Given the description of an element on the screen output the (x, y) to click on. 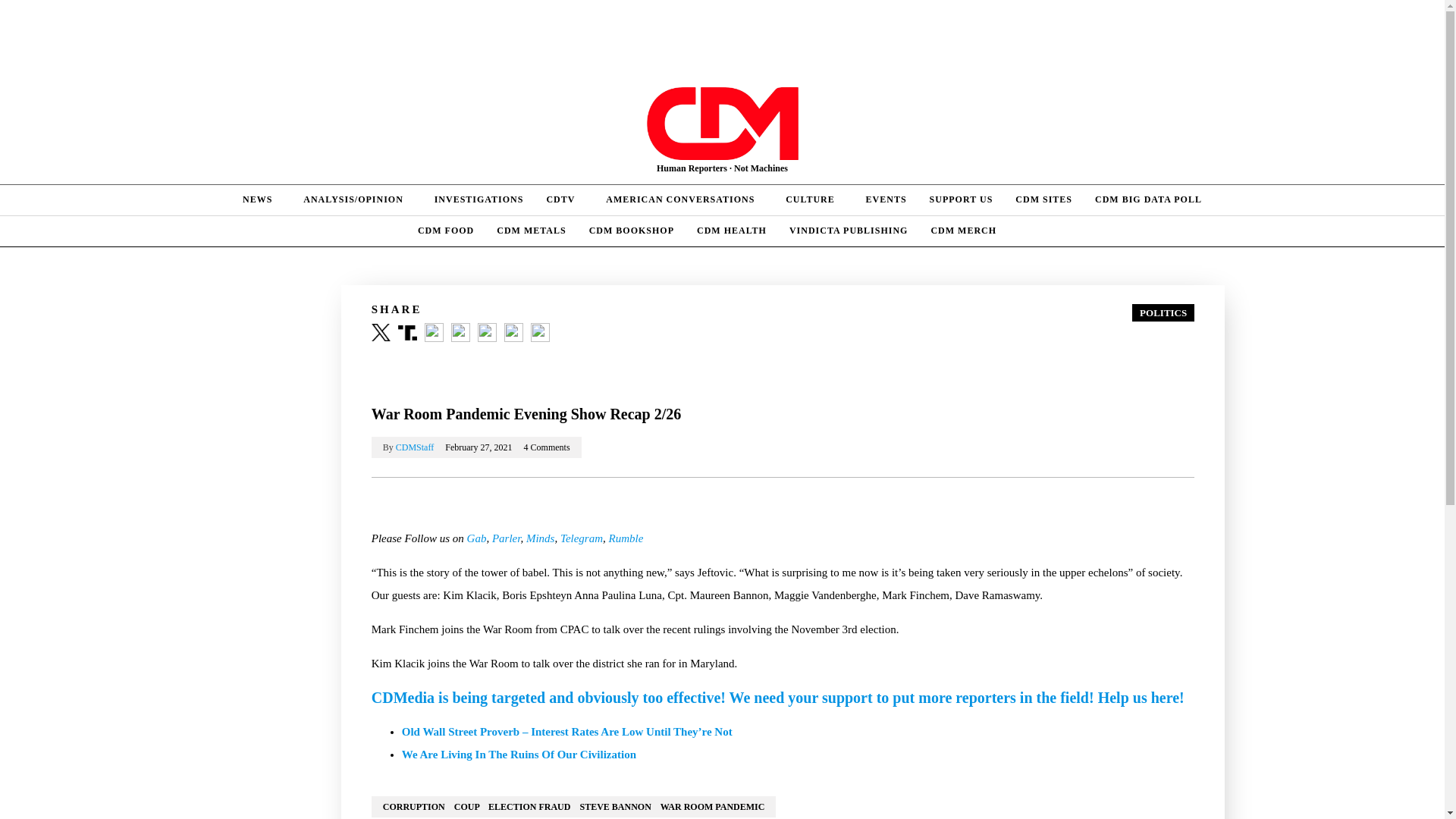
INVESTIGATIONS (479, 200)
CDTV (564, 200)
NEWS (261, 200)
AMERICAN CONVERSATIONS (684, 200)
